Given the description of an element on the screen output the (x, y) to click on. 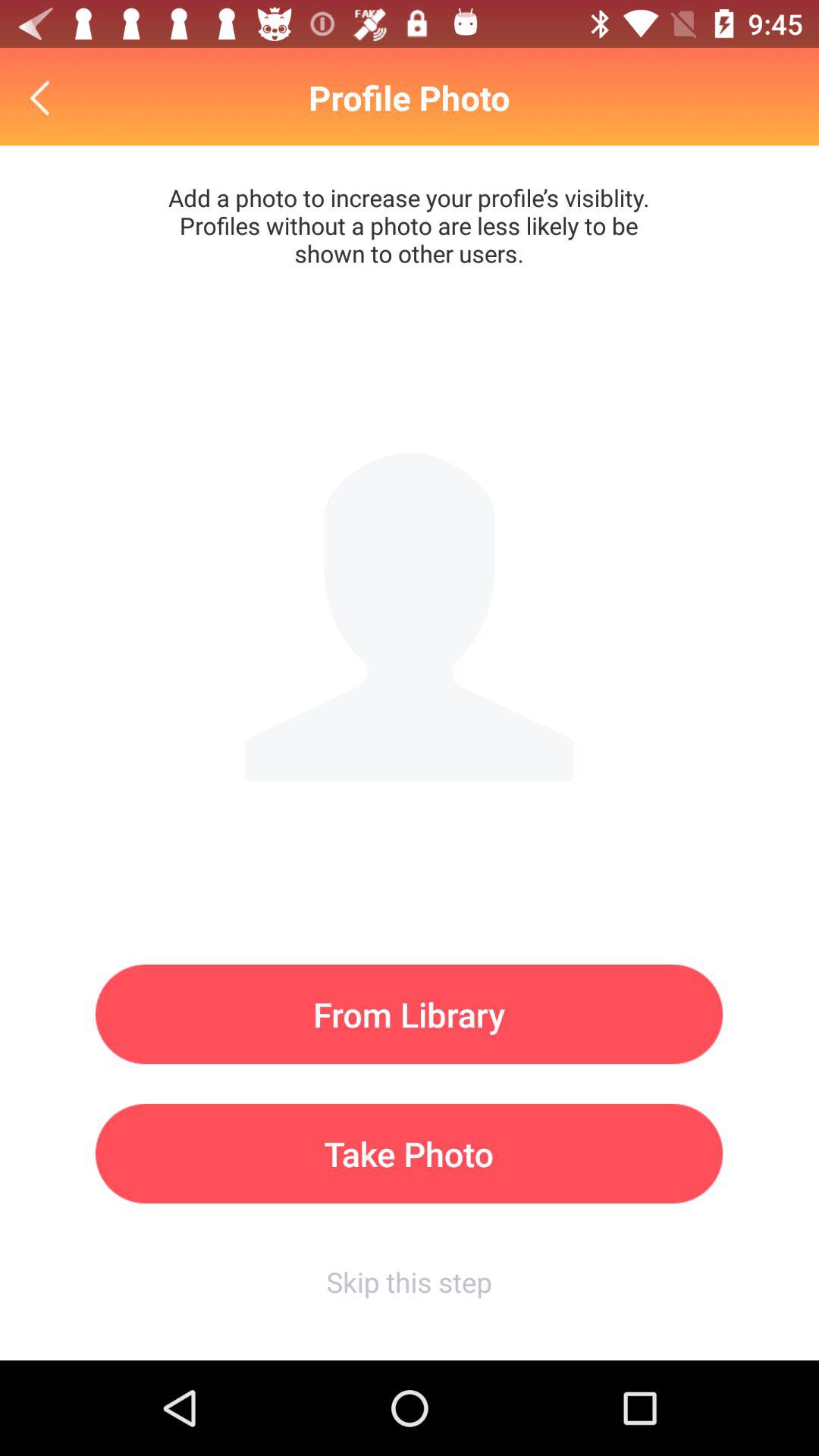
flip to from library (408, 1014)
